Given the description of an element on the screen output the (x, y) to click on. 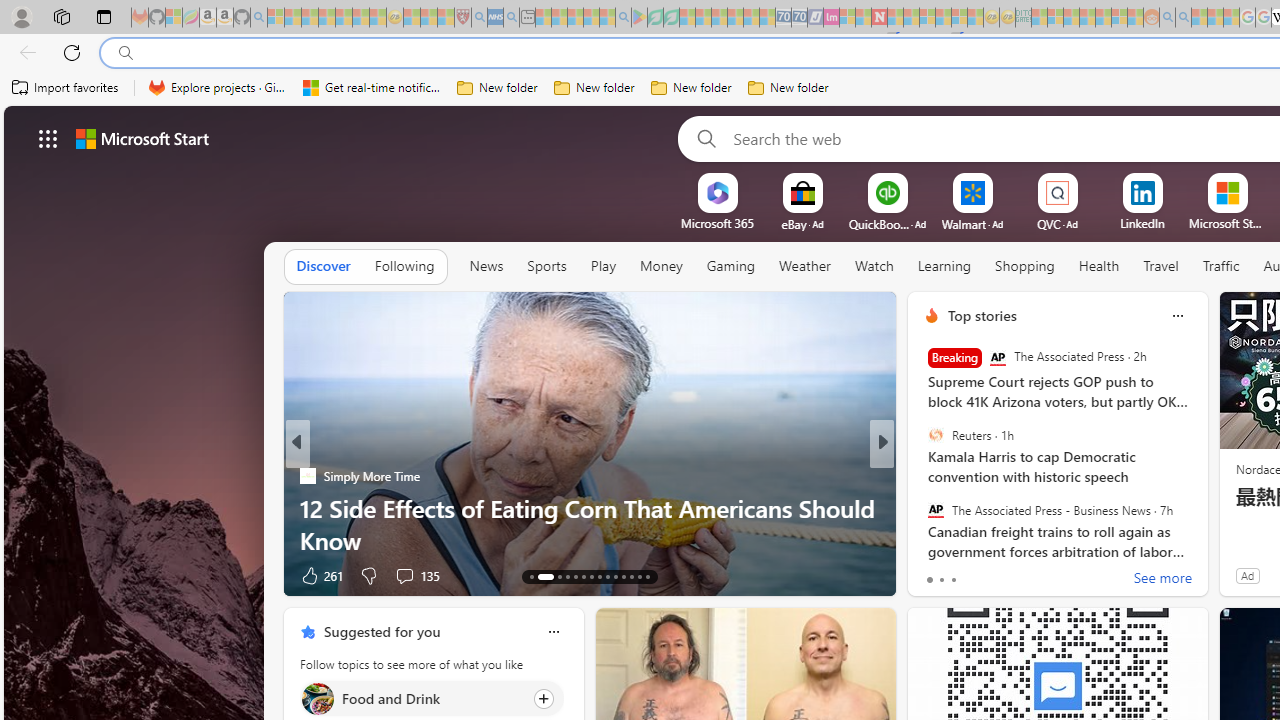
AutomationID: tab-14 (539, 576)
View comments 81 Comment (1029, 574)
CNBC (923, 475)
New folder (788, 88)
54 Like (934, 574)
tab-2 (953, 579)
